Given the description of an element on the screen output the (x, y) to click on. 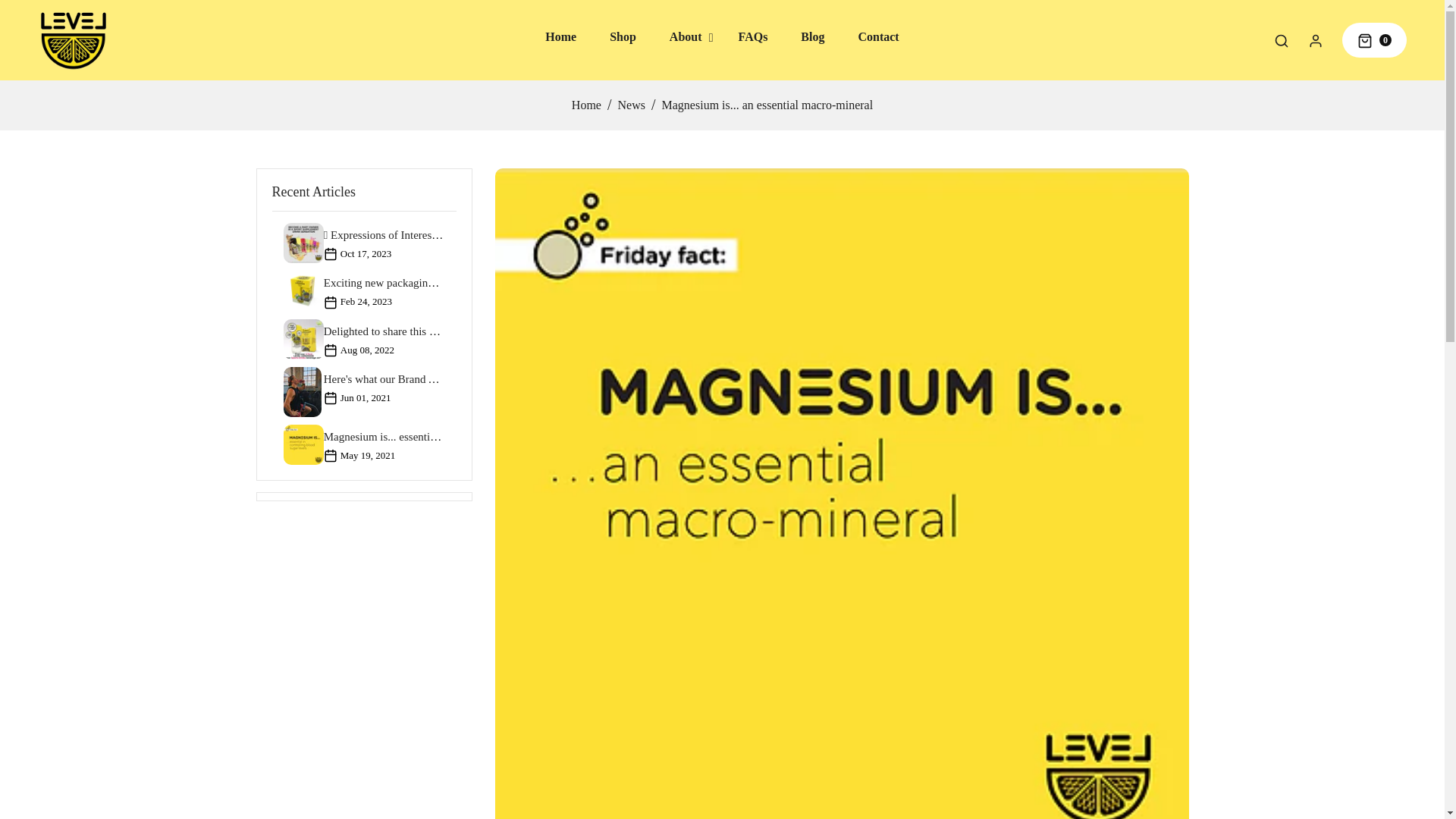
Exciting new packaging for Level Lemonade (426, 282)
Cart (1373, 39)
Back to the frontpage (586, 105)
Contact (878, 36)
Shop (622, 36)
FAQs (753, 36)
0 (1373, 39)
Search (1281, 39)
About (686, 37)
Home (586, 105)
Magnesium is... essential in controlling blood sugar levels (455, 436)
My Account (1315, 39)
level-lemonade.com (73, 39)
Delighted to share this great milestone! (412, 330)
Blog (813, 36)
